Given the description of an element on the screen output the (x, y) to click on. 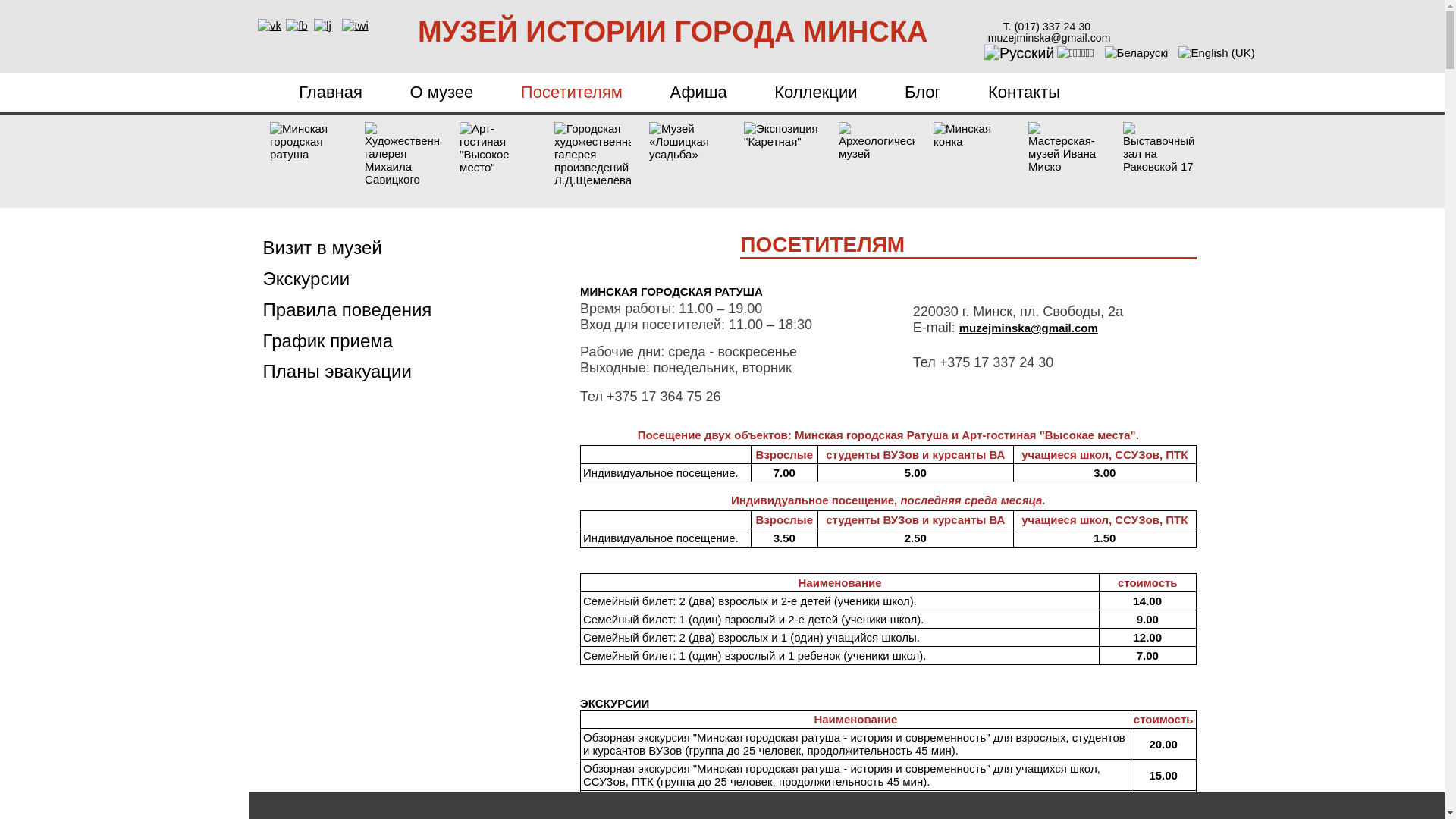
muzejminska@gmail.com Element type: text (1028, 327)
English (UK) Element type: hover (1216, 52)
